Given the description of an element on the screen output the (x, y) to click on. 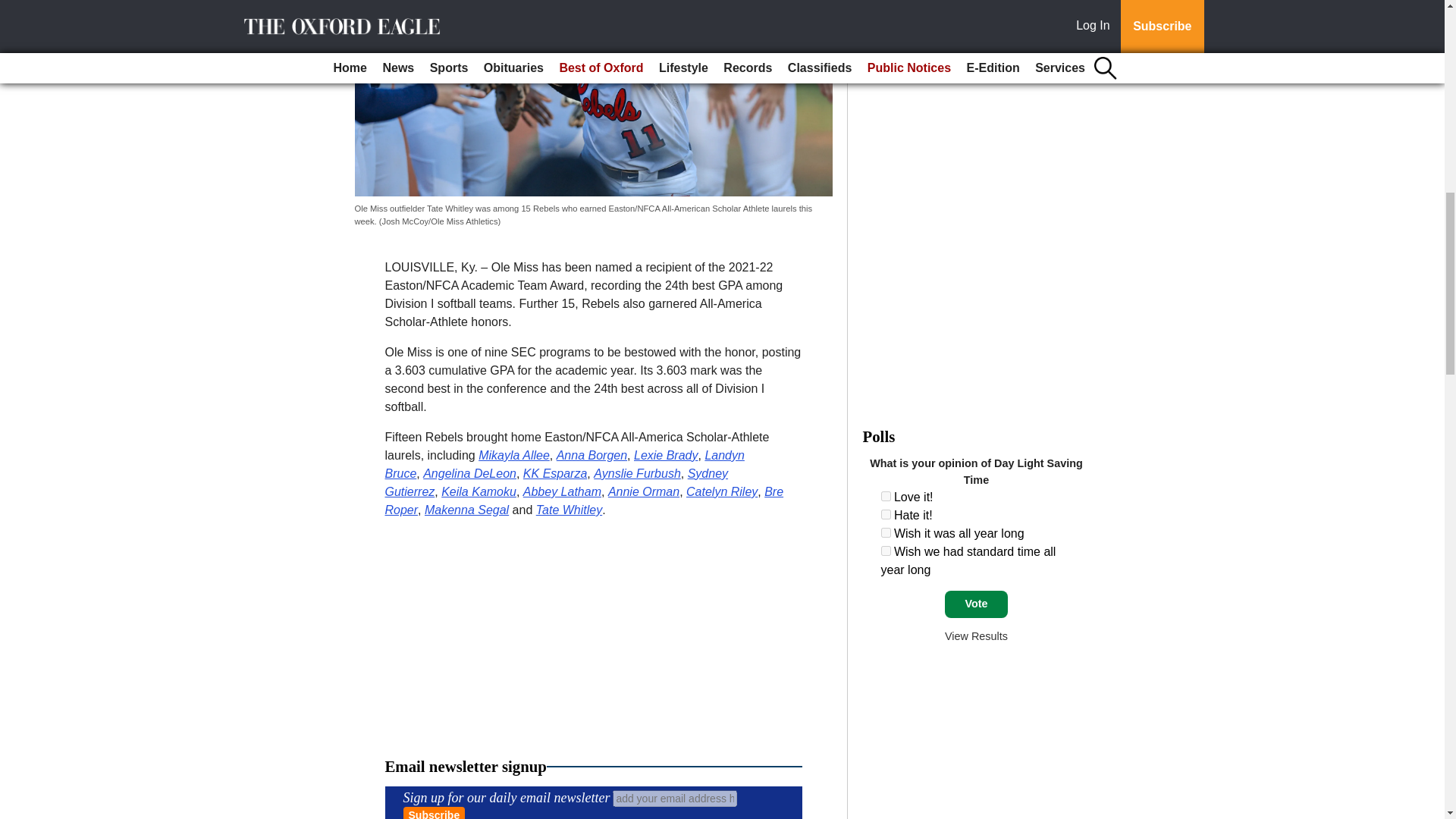
   Vote    (975, 604)
KK Esparza (554, 472)
Angelina DeLeon (469, 472)
Lexie Brady (665, 454)
160 (885, 496)
Anna Borgen (591, 454)
161 (885, 514)
Sydney Gutierrez (557, 481)
Catelyn Riley (721, 491)
163 (885, 551)
Makenna Segal (466, 509)
Subscribe (434, 812)
View Results Of This Poll (975, 635)
Tate Whitley (568, 509)
162 (885, 532)
